Given the description of an element on the screen output the (x, y) to click on. 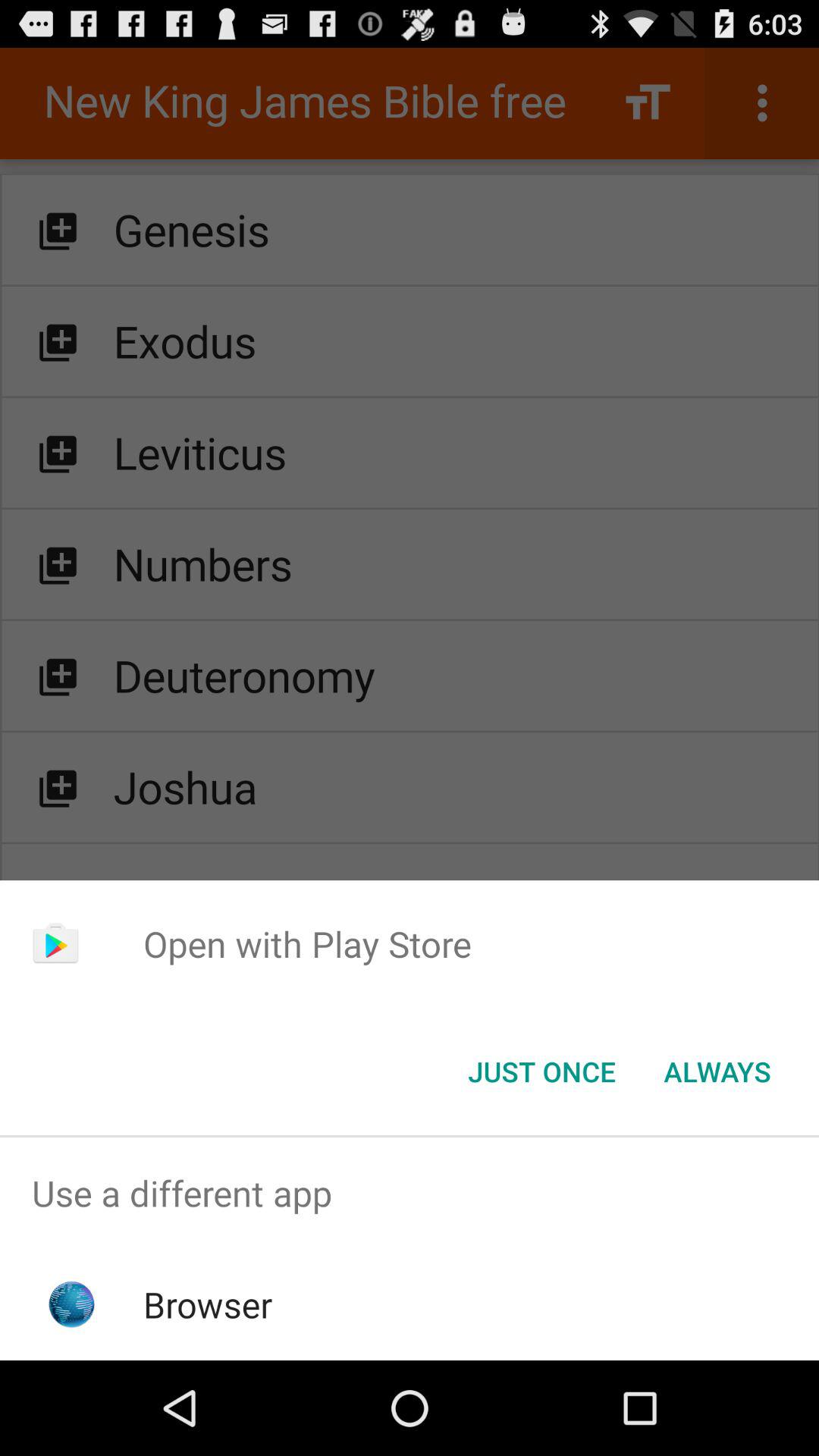
open button next to the always (541, 1071)
